Given the description of an element on the screen output the (x, y) to click on. 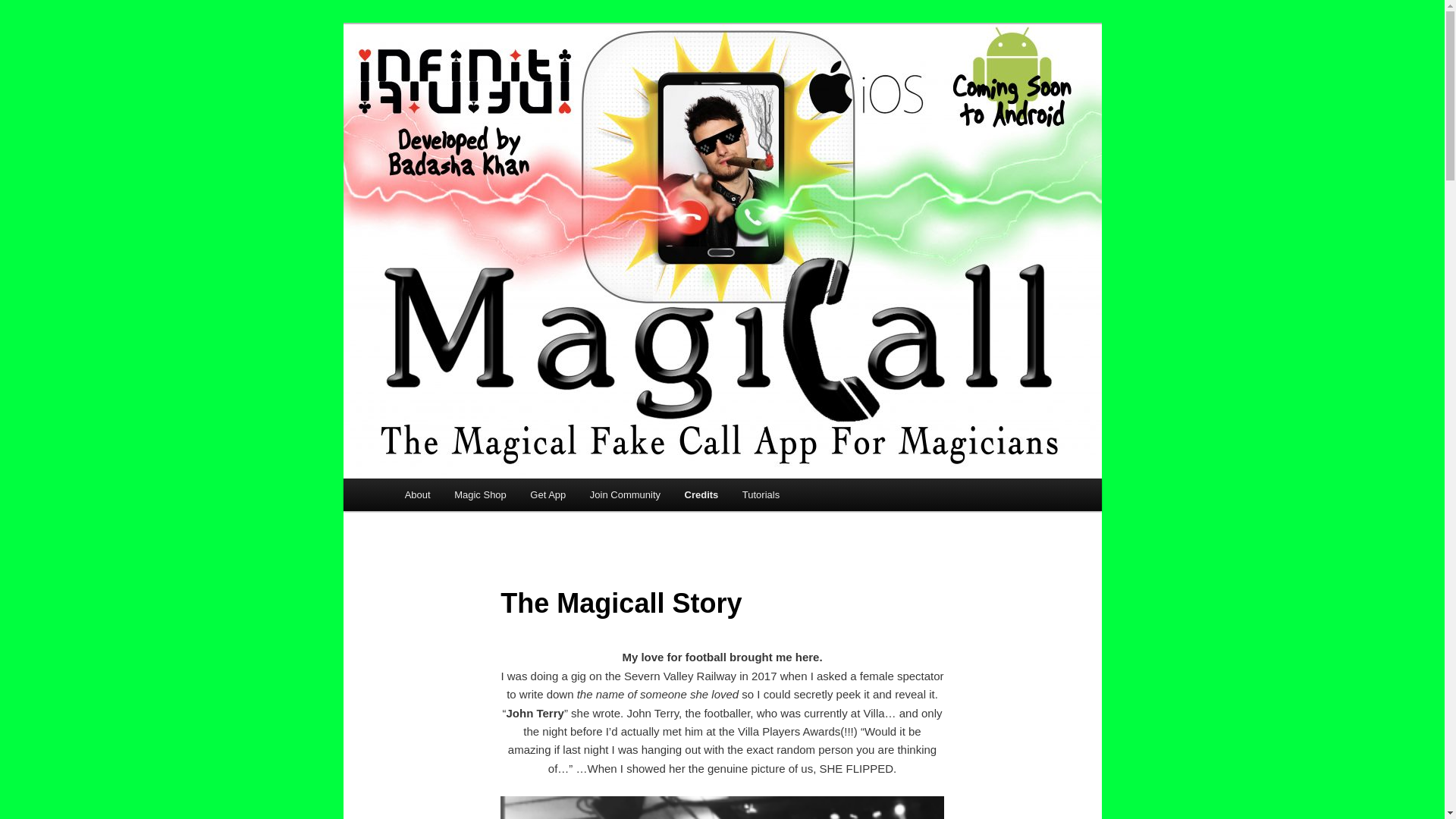
Magic Shop (480, 494)
Tutorials (761, 494)
Join Community (625, 494)
Get App (548, 494)
Magicall (444, 78)
Credits (701, 494)
About (417, 494)
